Given the description of an element on the screen output the (x, y) to click on. 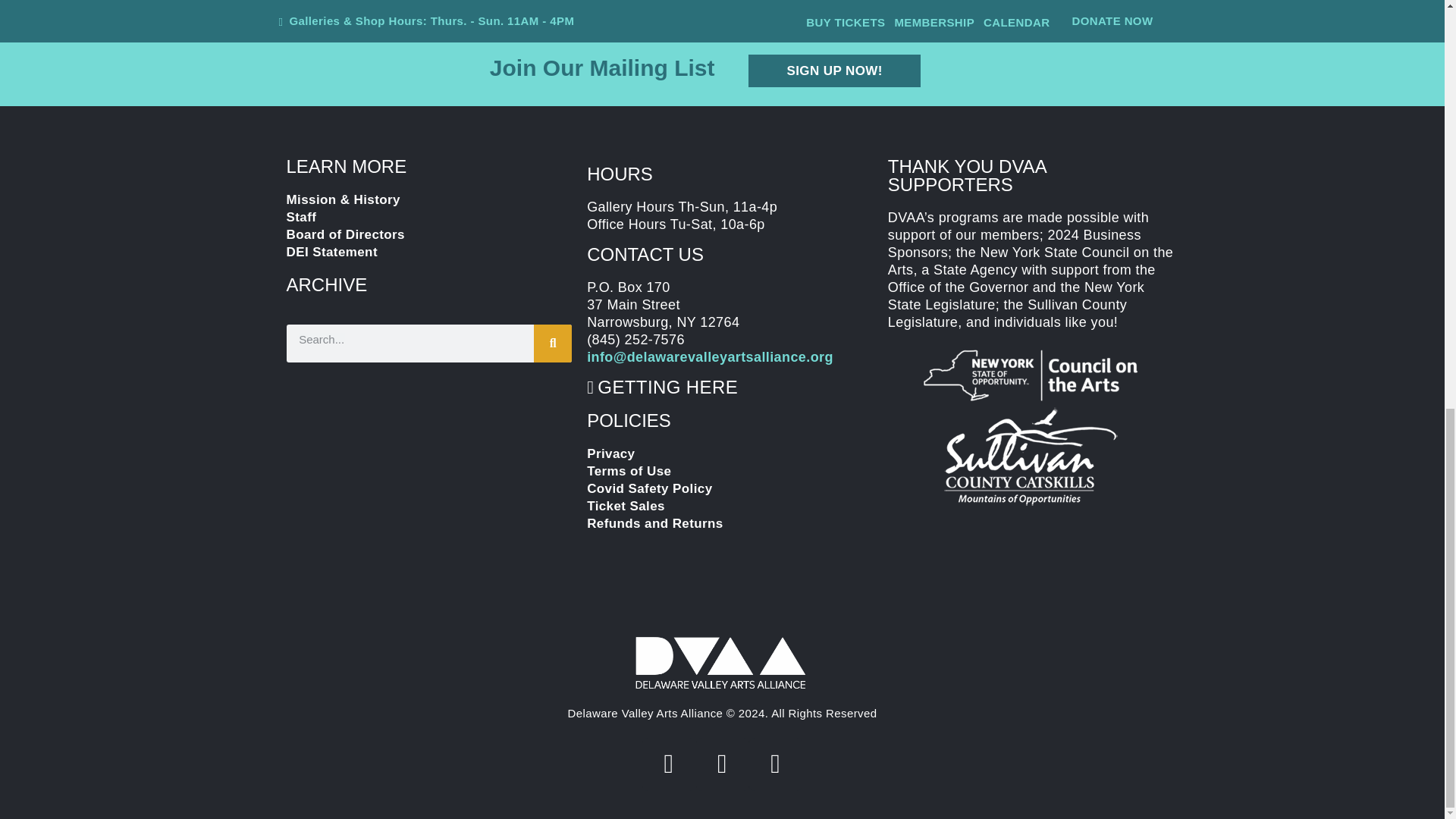
whsmlogo (1030, 456)
